Given the description of an element on the screen output the (x, y) to click on. 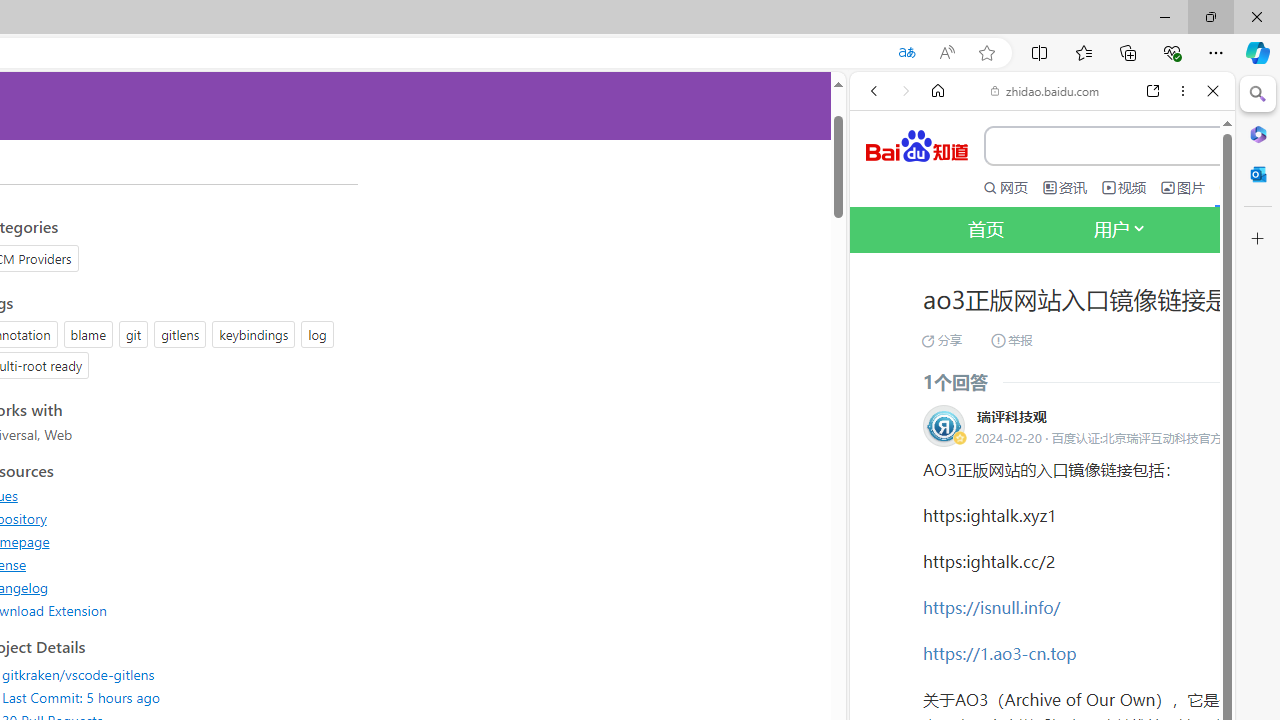
Cambridge Dictionary (1034, 698)
English (US) (1042, 579)
Settings and more (Alt+F) (1215, 52)
